Given the description of an element on the screen output the (x, y) to click on. 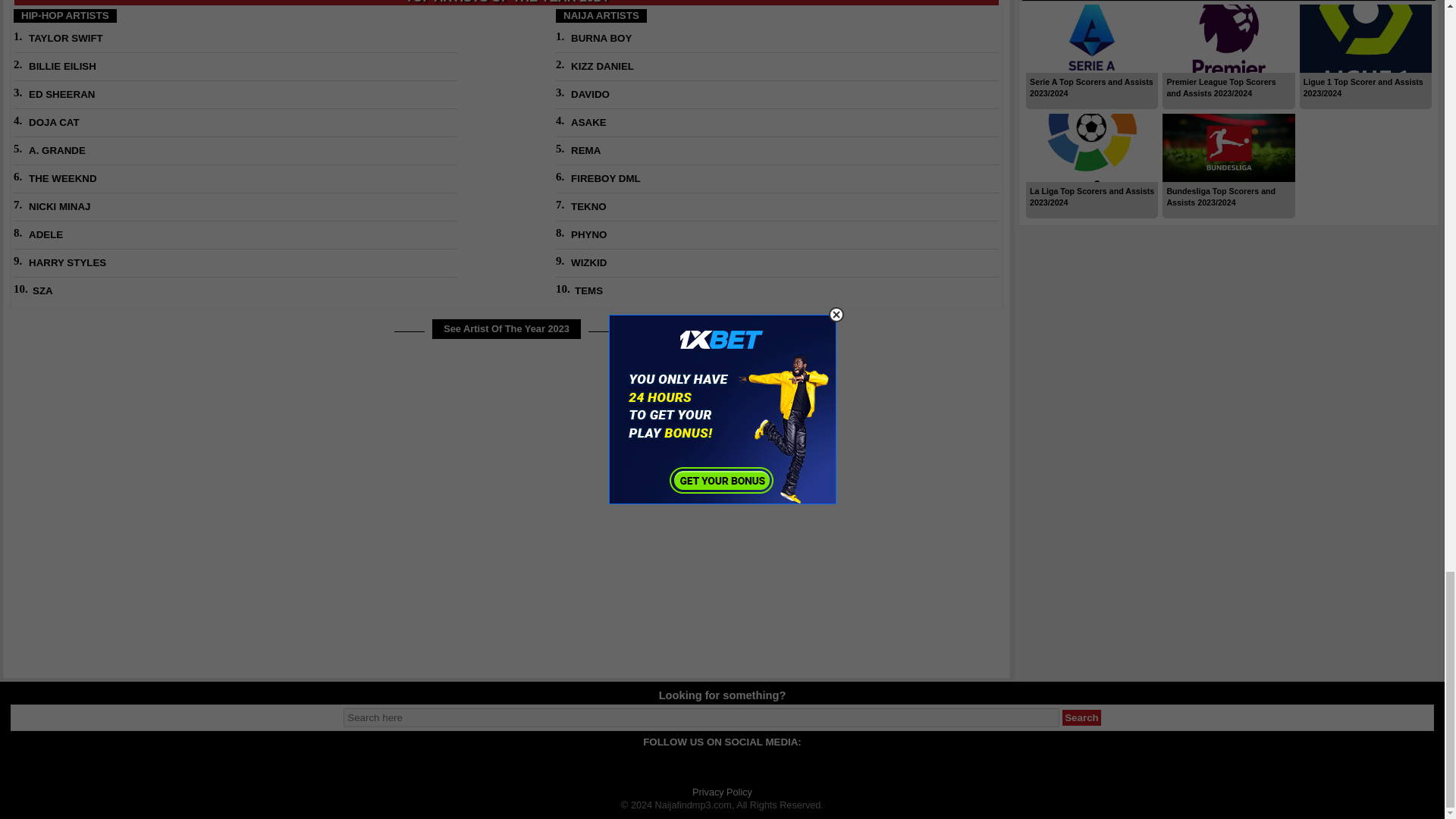
Search (1081, 717)
